Given the description of an element on the screen output the (x, y) to click on. 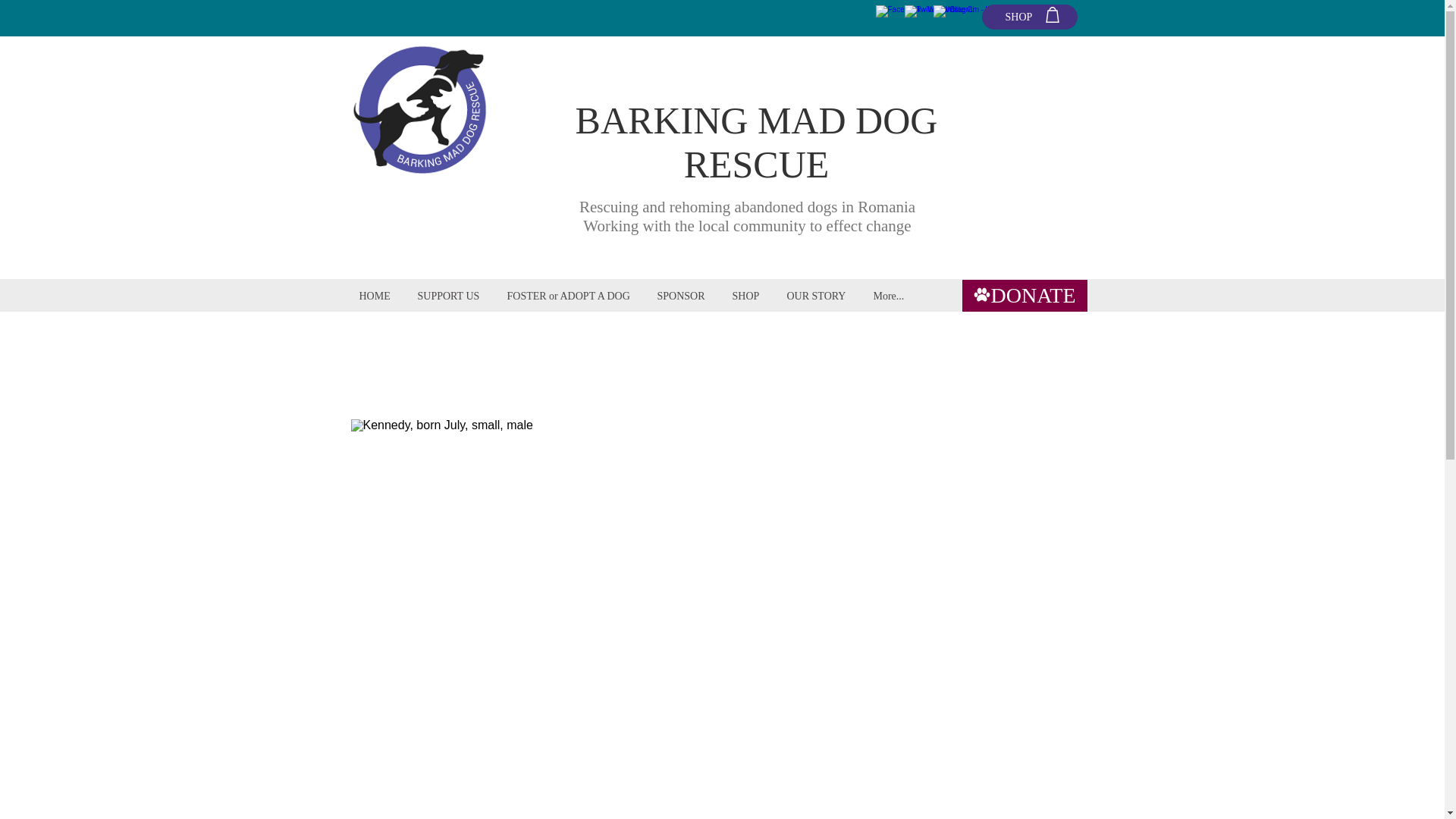
DONATE (1023, 296)
OUR STORY (817, 295)
HOME (376, 295)
SHOP (747, 295)
SPONSOR (683, 295)
SHOP (1029, 16)
